Given the description of an element on the screen output the (x, y) to click on. 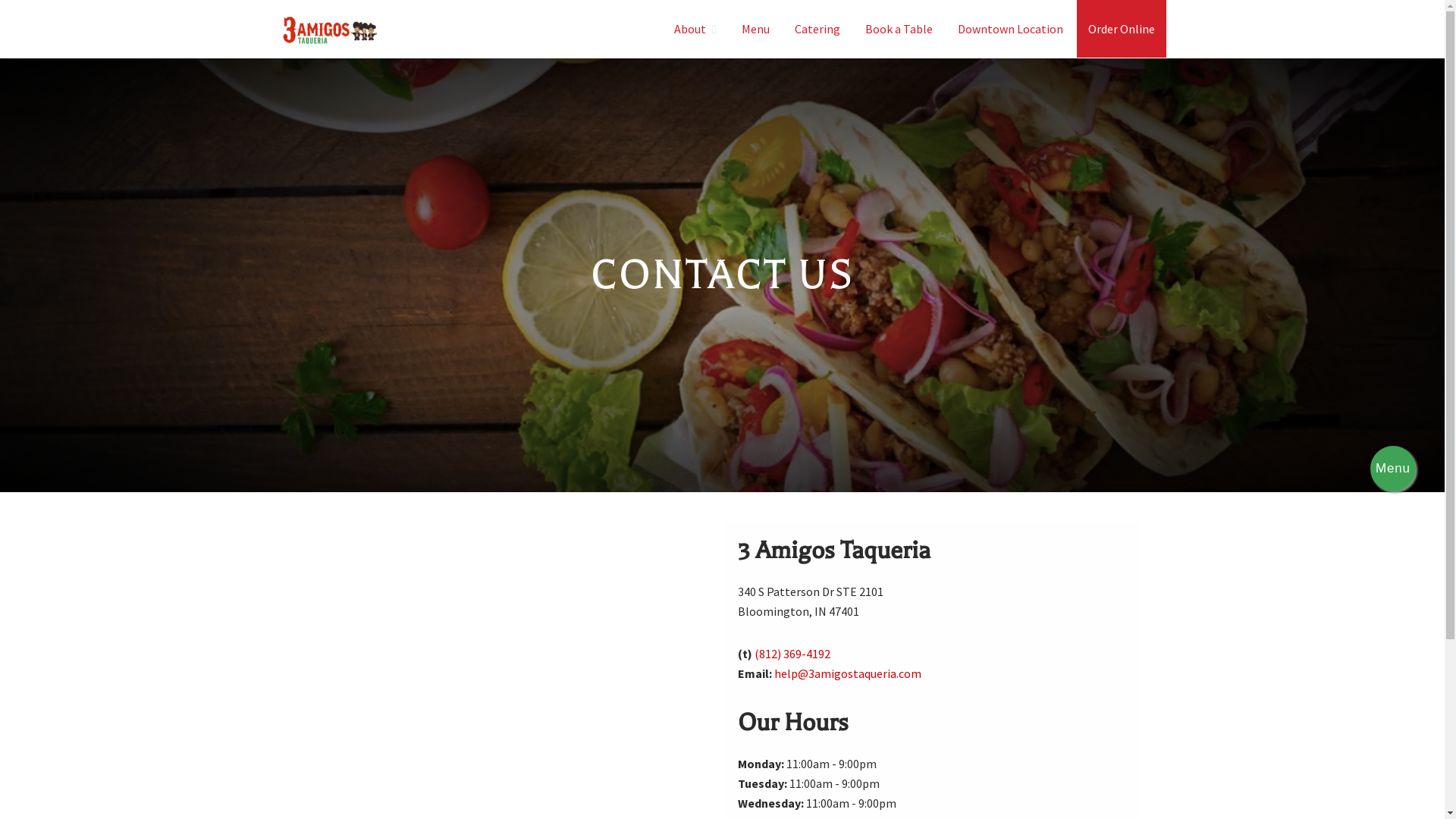
(812) 369-4192 Element type: text (791, 653)
Downtown Location Element type: text (1010, 28)
Catering Element type: text (816, 28)
Menu Element type: text (1392, 468)
Menu Element type: text (754, 28)
3 AMIGOS TAQUERIA Element type: text (408, 64)
Order Online Element type: text (1121, 28)
About Element type: text (695, 29)
Book a Table Element type: text (898, 28)
help@3amigostaqueria.com Element type: text (846, 672)
Skip to primary navigation Element type: text (0, 0)
